Given the description of an element on the screen output the (x, y) to click on. 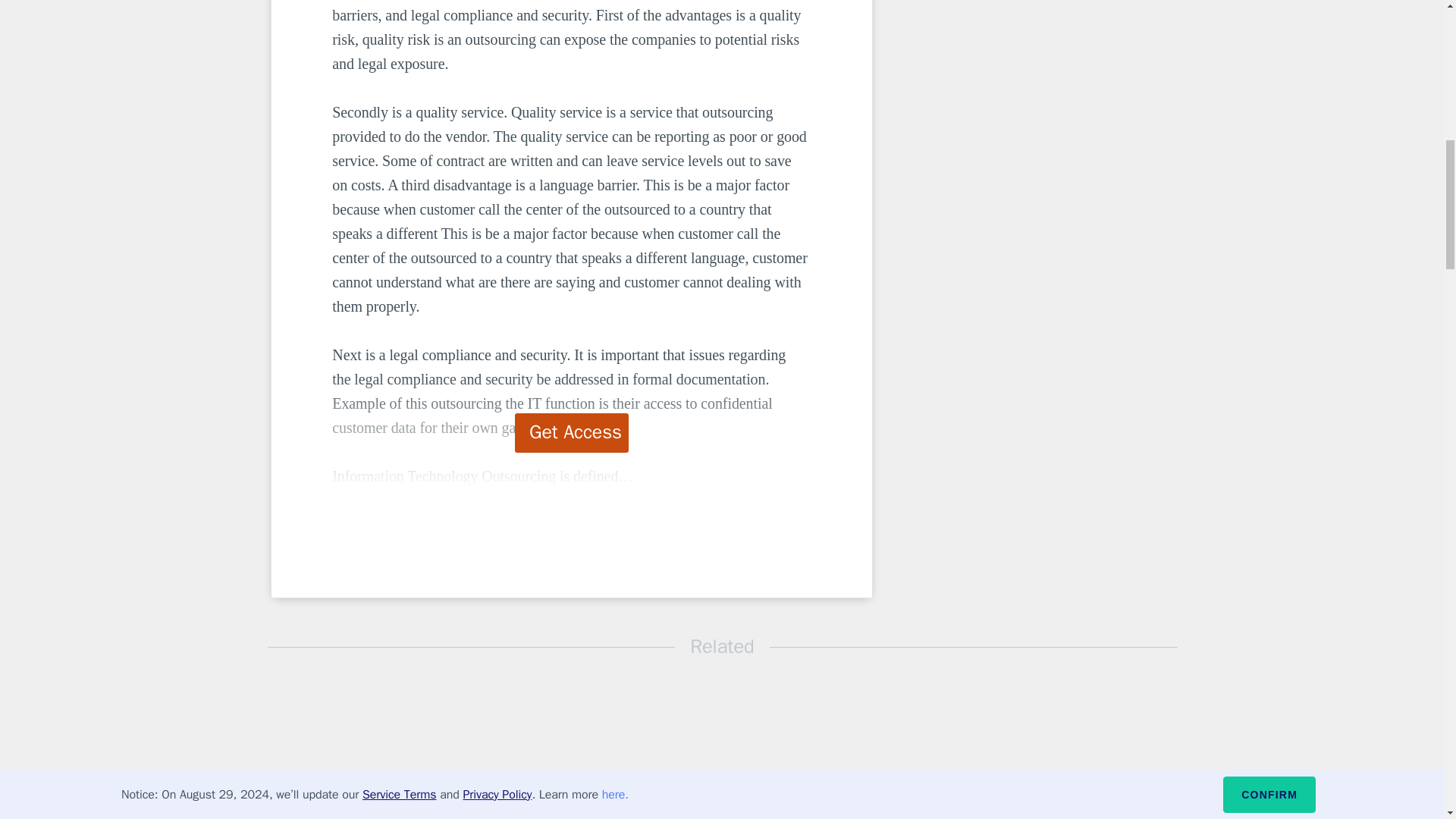
Get Access (571, 432)
